Given the description of an element on the screen output the (x, y) to click on. 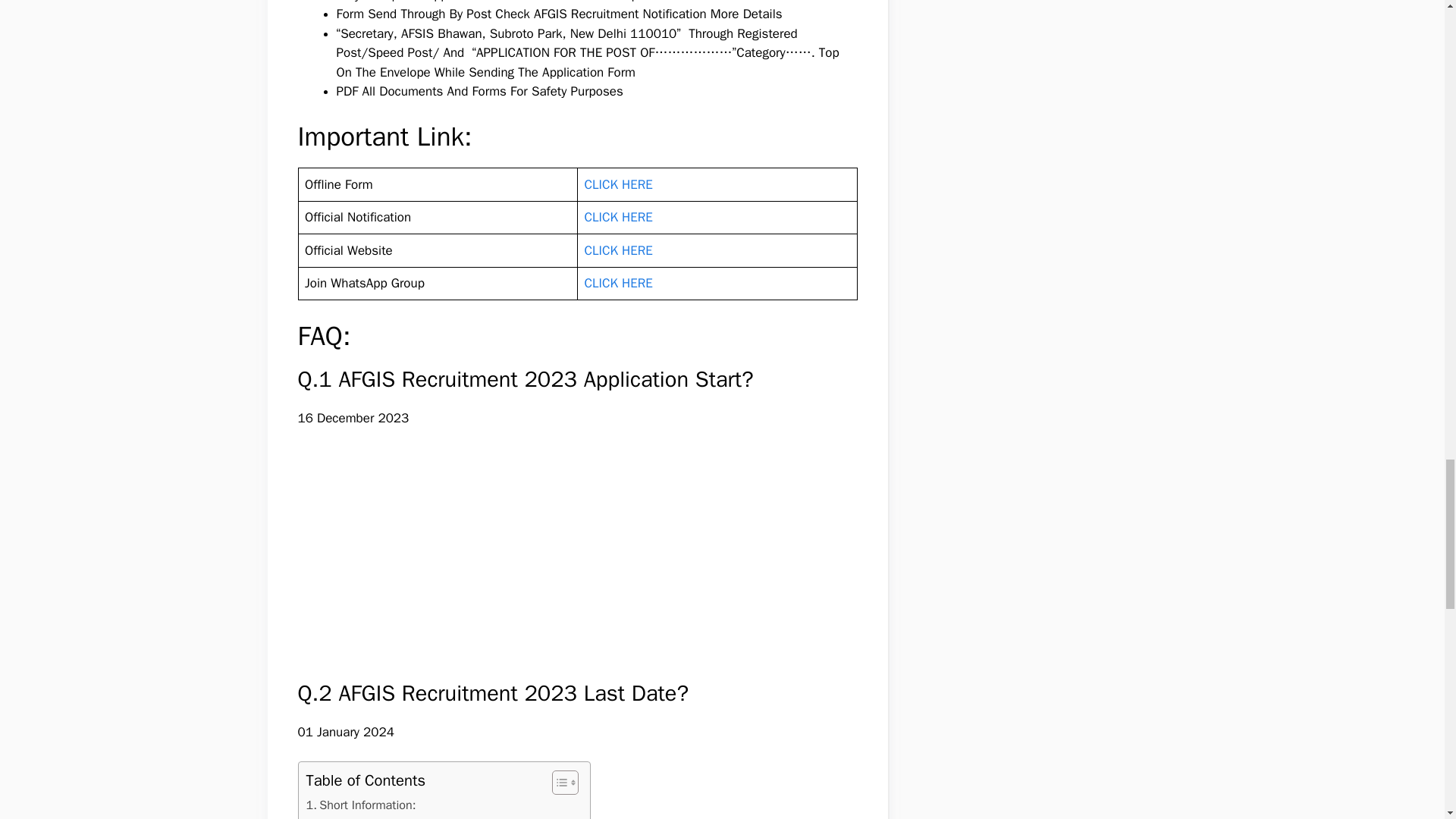
Important Date: (354, 816)
Short Information: (360, 804)
Short Information: (360, 804)
CLICK HERE (617, 250)
Important Date: (354, 816)
CLICK HERE (617, 184)
CLICK HERE (617, 283)
CLICK HERE (617, 217)
